Given the description of an element on the screen output the (x, y) to click on. 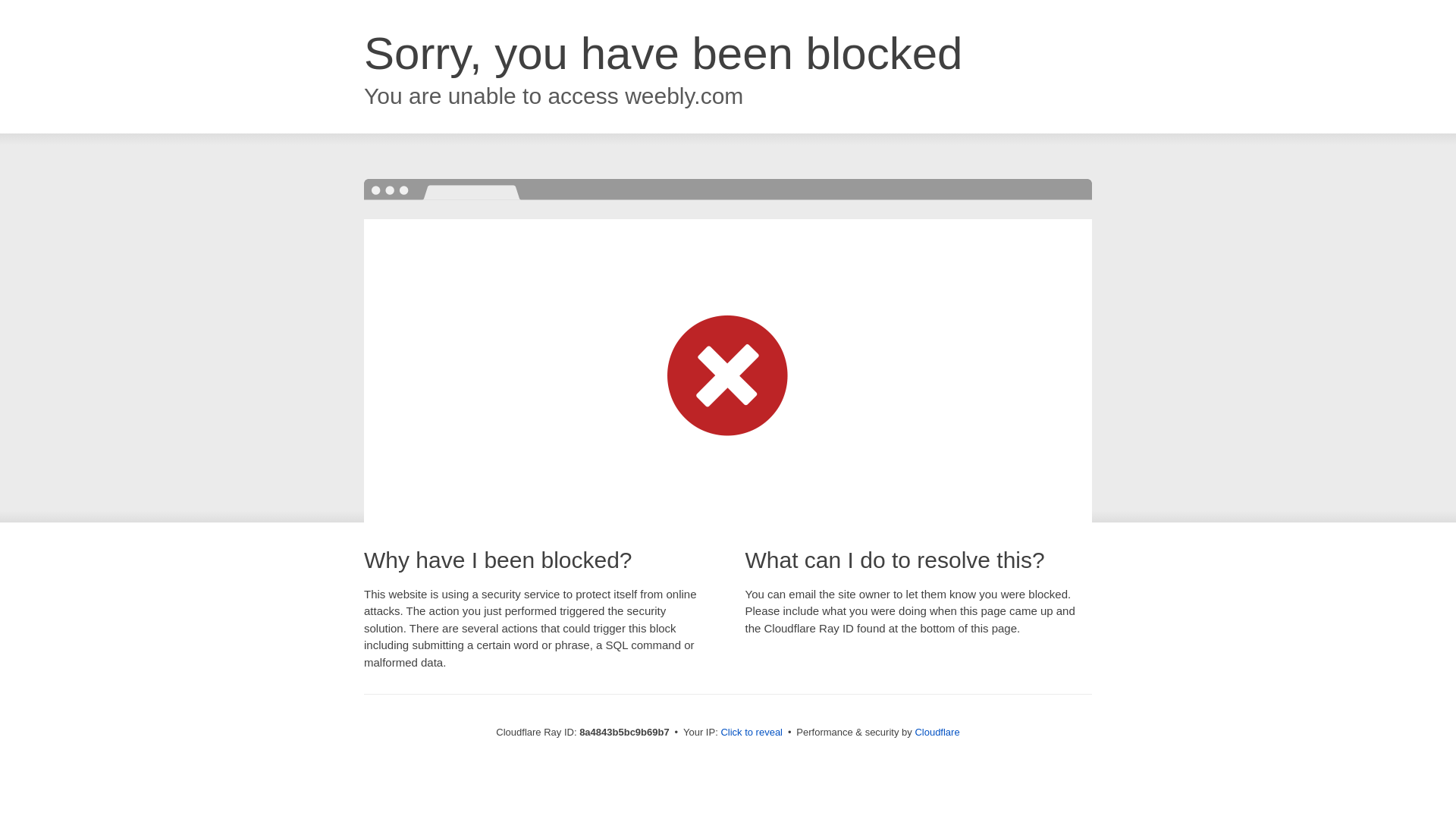
Click to reveal (751, 732)
Cloudflare (936, 731)
